Given the description of an element on the screen output the (x, y) to click on. 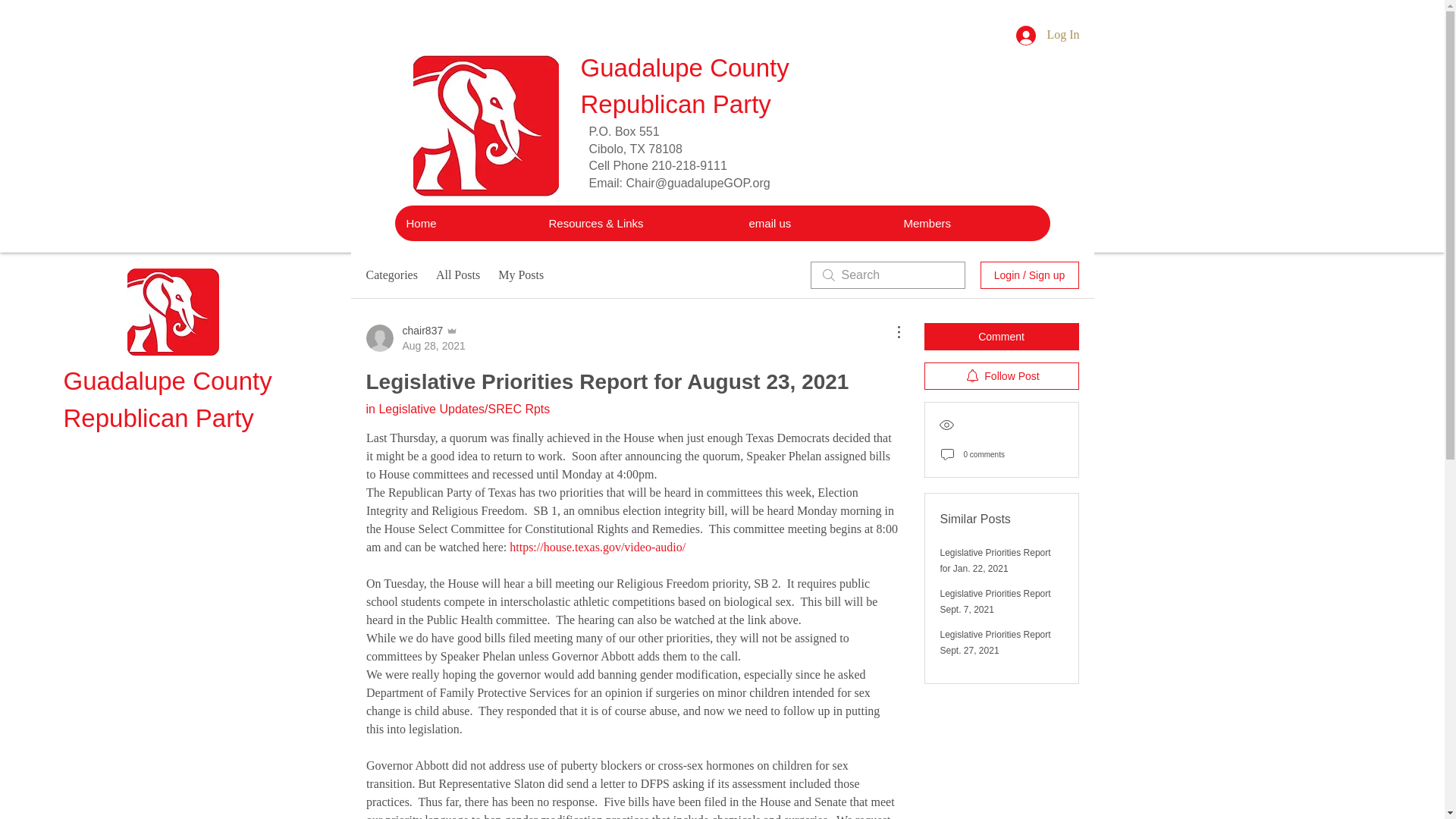
Categories (390, 275)
redelephant.JPG (484, 125)
Legislative Priorities Report Sept. 27, 2021 (995, 642)
Follow Post (1000, 375)
Legislative Priorities Report for Jan. 22, 2021 (414, 337)
Home (995, 560)
My Posts (464, 222)
Log In (520, 275)
Comment (1047, 35)
